Given the description of an element on the screen output the (x, y) to click on. 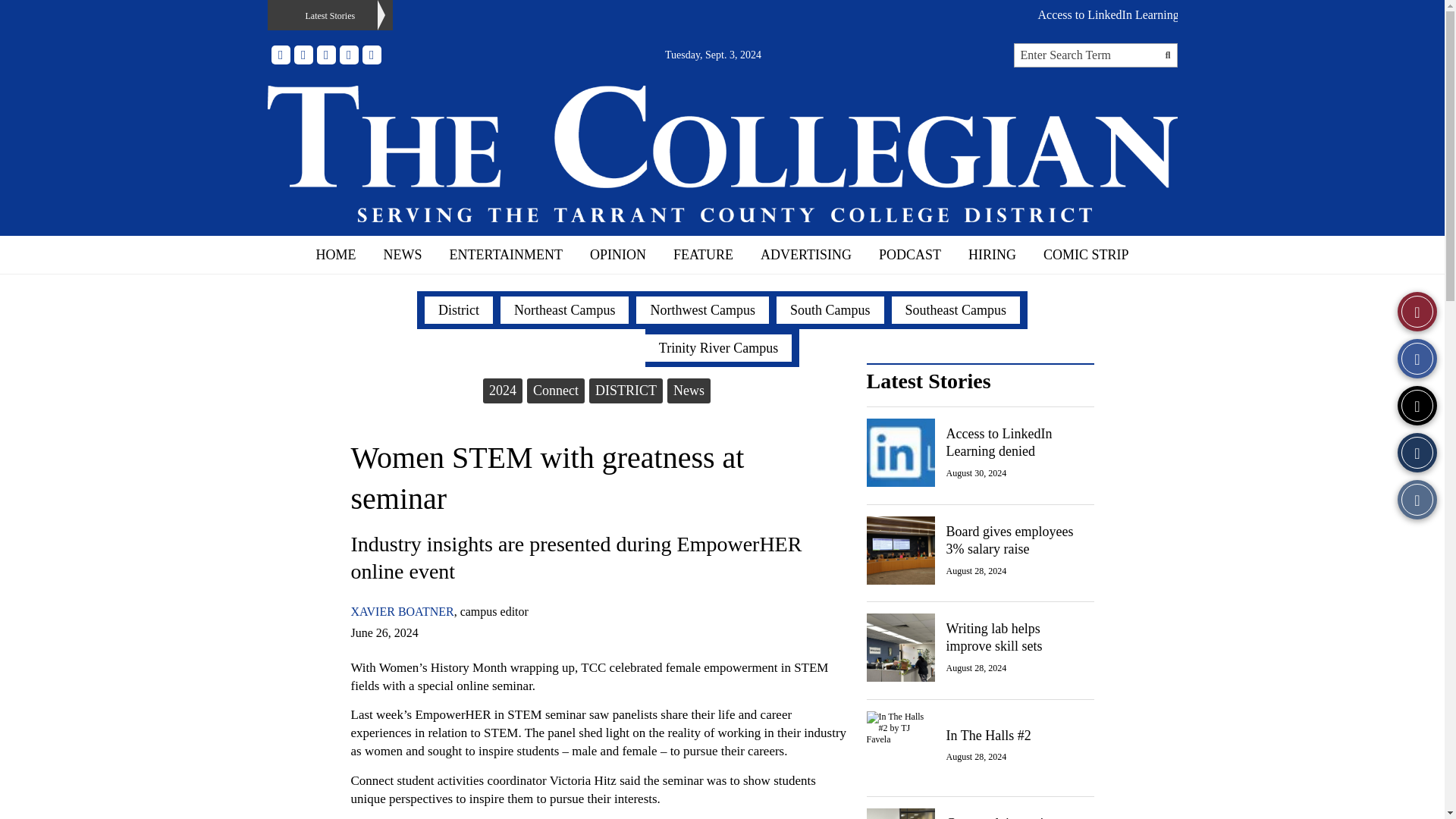
Submit Search (1167, 55)
FEATURE (702, 254)
ENTERTAINMENT (505, 254)
ADVERTISING (805, 254)
PODCAST (909, 254)
OPINION (617, 254)
HIRING (992, 254)
HOME (335, 254)
Access to LinkedIn Learning denied (1125, 14)
NEWS (402, 254)
